Given the description of an element on the screen output the (x, y) to click on. 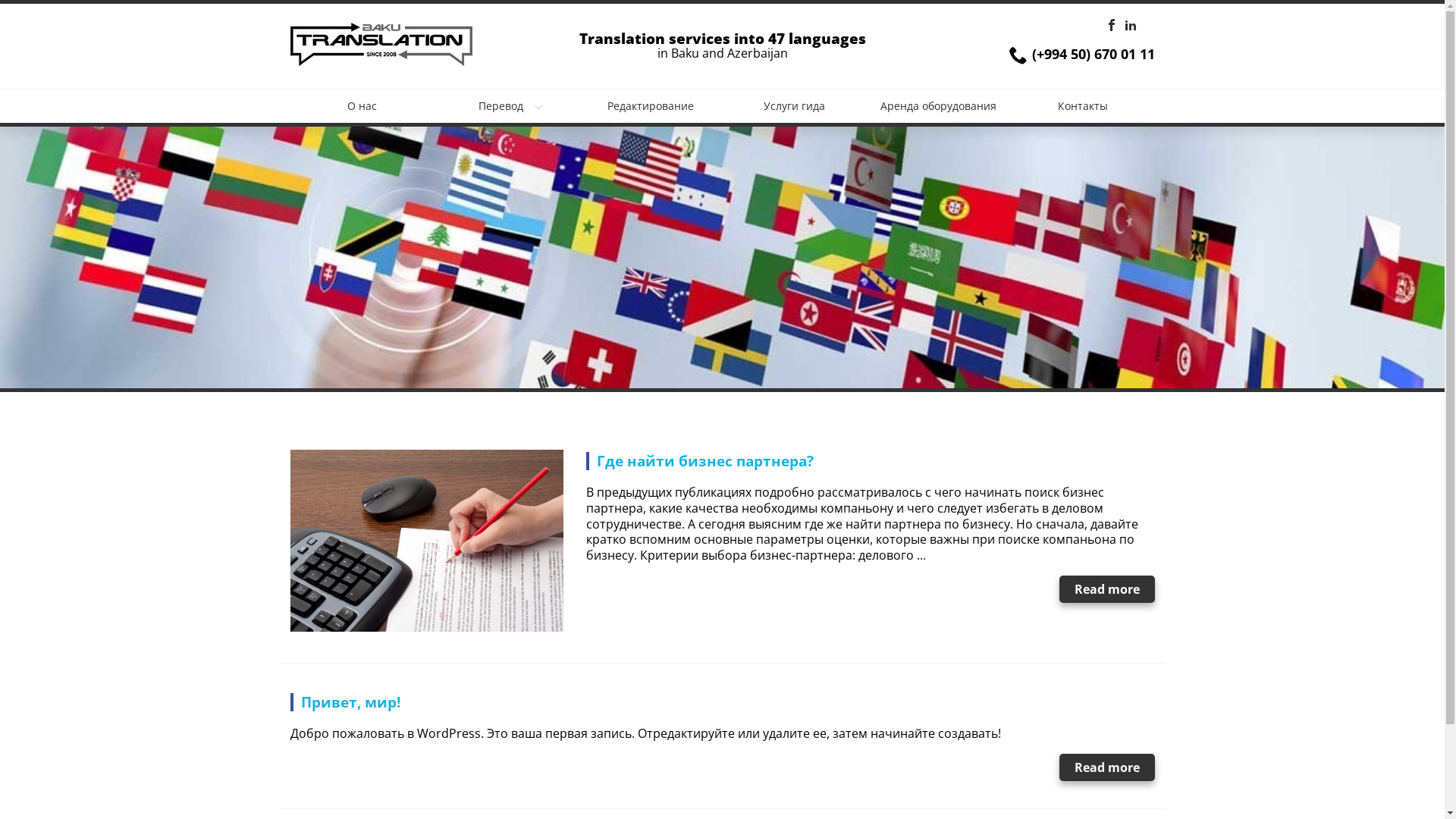
Read more Element type: text (1106, 588)
Read more Element type: text (1106, 767)
